Given the description of an element on the screen output the (x, y) to click on. 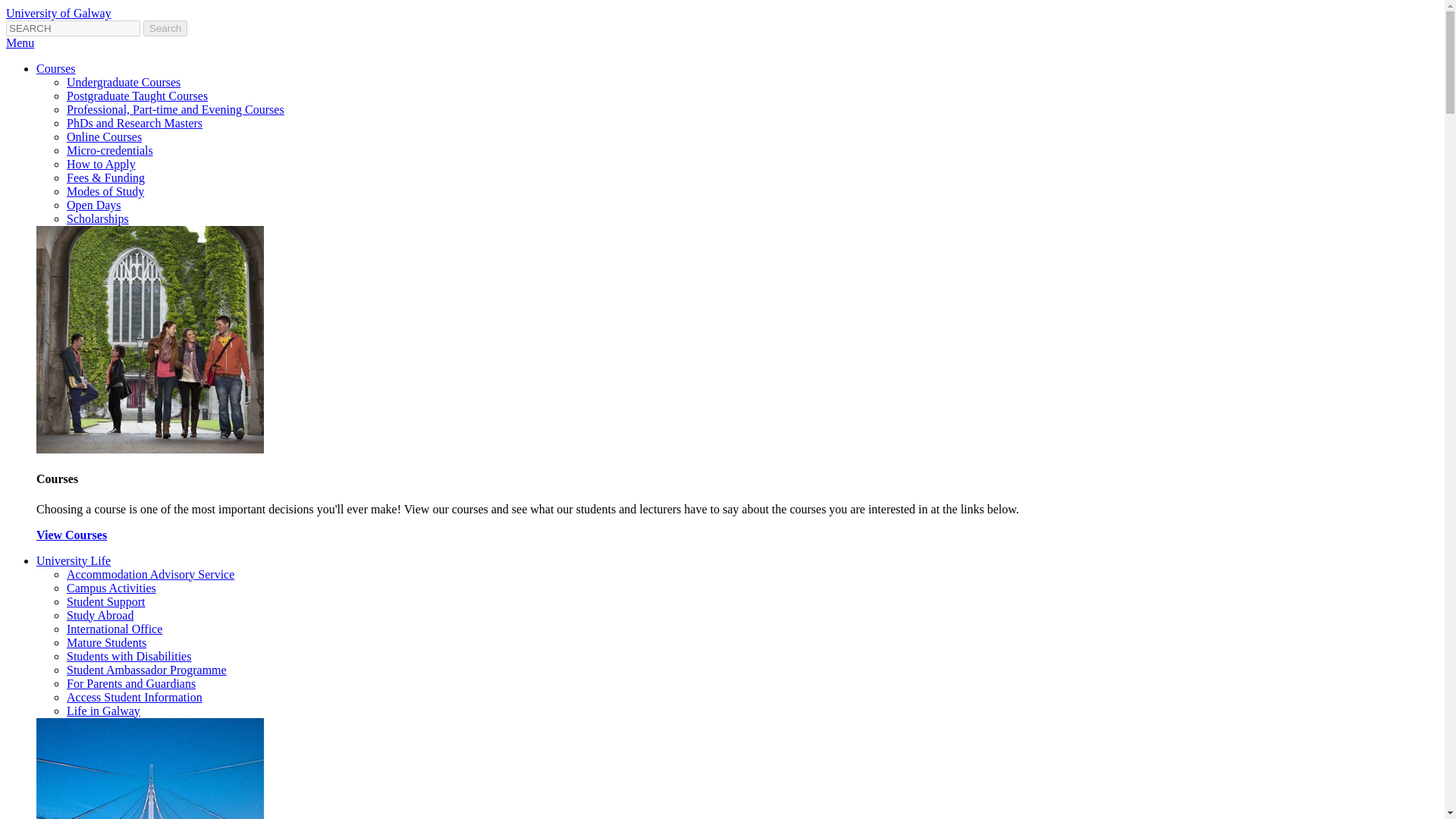
Student Support (105, 601)
Menu (19, 42)
Access Student Information (134, 697)
Your search phrase (72, 28)
PhDs and Research Masters (134, 123)
University of Galway (58, 12)
University Life (73, 560)
Open Days (93, 205)
Online Courses (103, 136)
Modes of Study (105, 191)
For Parents and Guardians (130, 683)
Search (164, 28)
Students with Disabilities (128, 656)
Life in Galway (102, 710)
Go to the University of Galway homepage (58, 12)
